Given the description of an element on the screen output the (x, y) to click on. 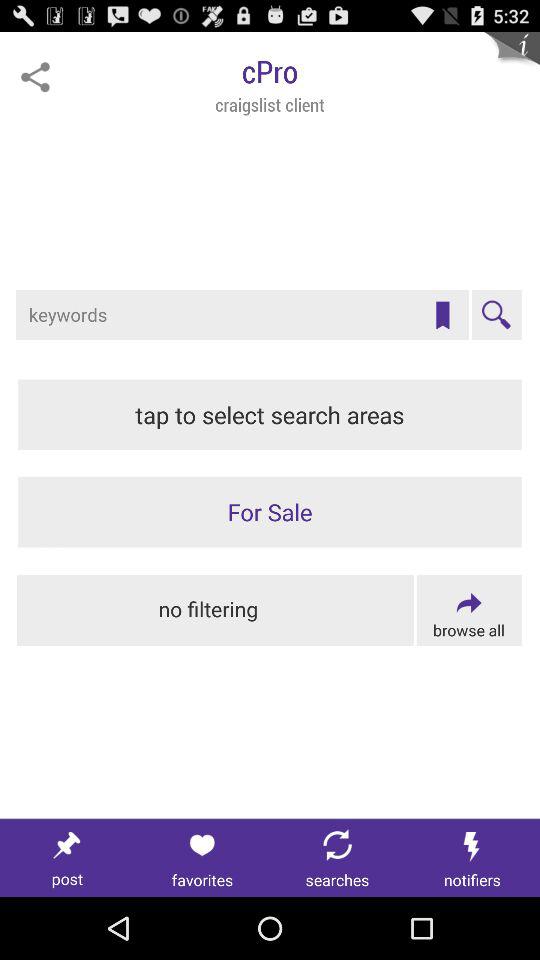
select for sale (269, 511)
